Given the description of an element on the screen output the (x, y) to click on. 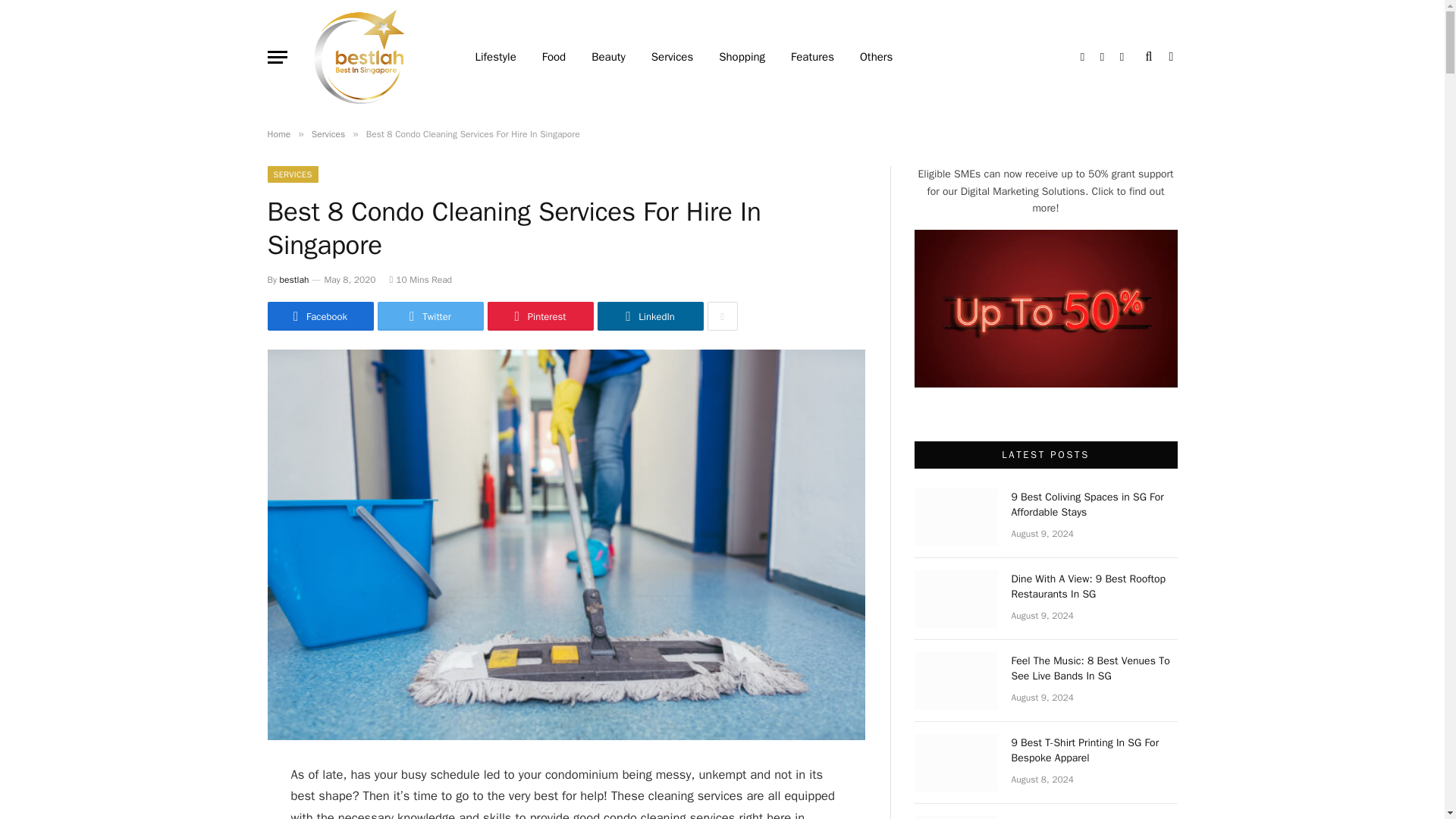
Switch to Dark Design - easier on eyes. (1168, 56)
Posts by bestlah (293, 279)
SERVICES (291, 174)
Share on Facebook (319, 316)
Twitter (430, 316)
Facebook (319, 316)
bestlah (293, 279)
Home (277, 133)
Share on Pinterest (539, 316)
Services (328, 133)
